Given the description of an element on the screen output the (x, y) to click on. 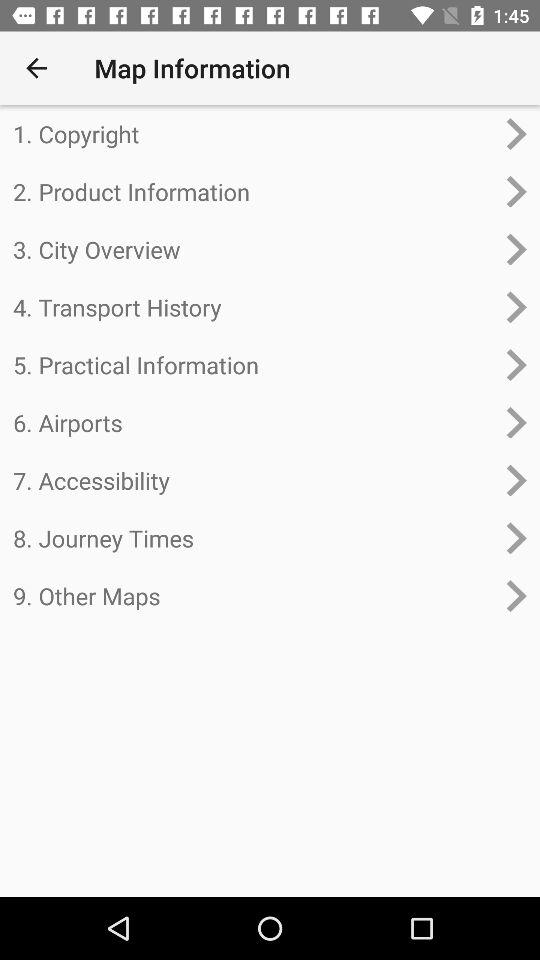
click the 4. transport history icon (253, 307)
